Given the description of an element on the screen output the (x, y) to click on. 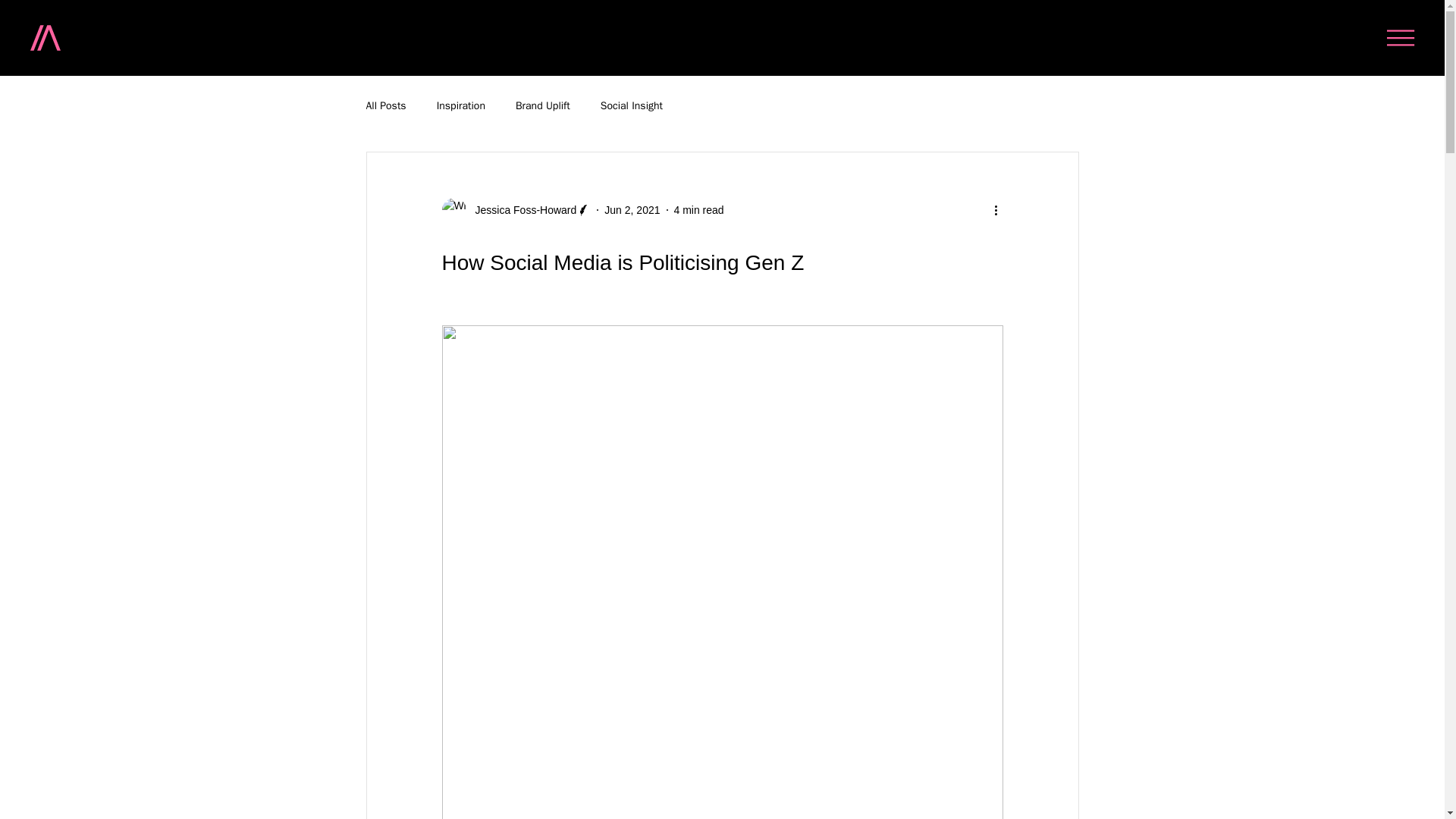
4 min read (697, 209)
Jun 2, 2021 (631, 209)
All Posts (385, 106)
Jessica Foss-Howard (520, 209)
Inspiration (460, 106)
Social Insight (630, 106)
Brand Uplift (542, 106)
